Given the description of an element on the screen output the (x, y) to click on. 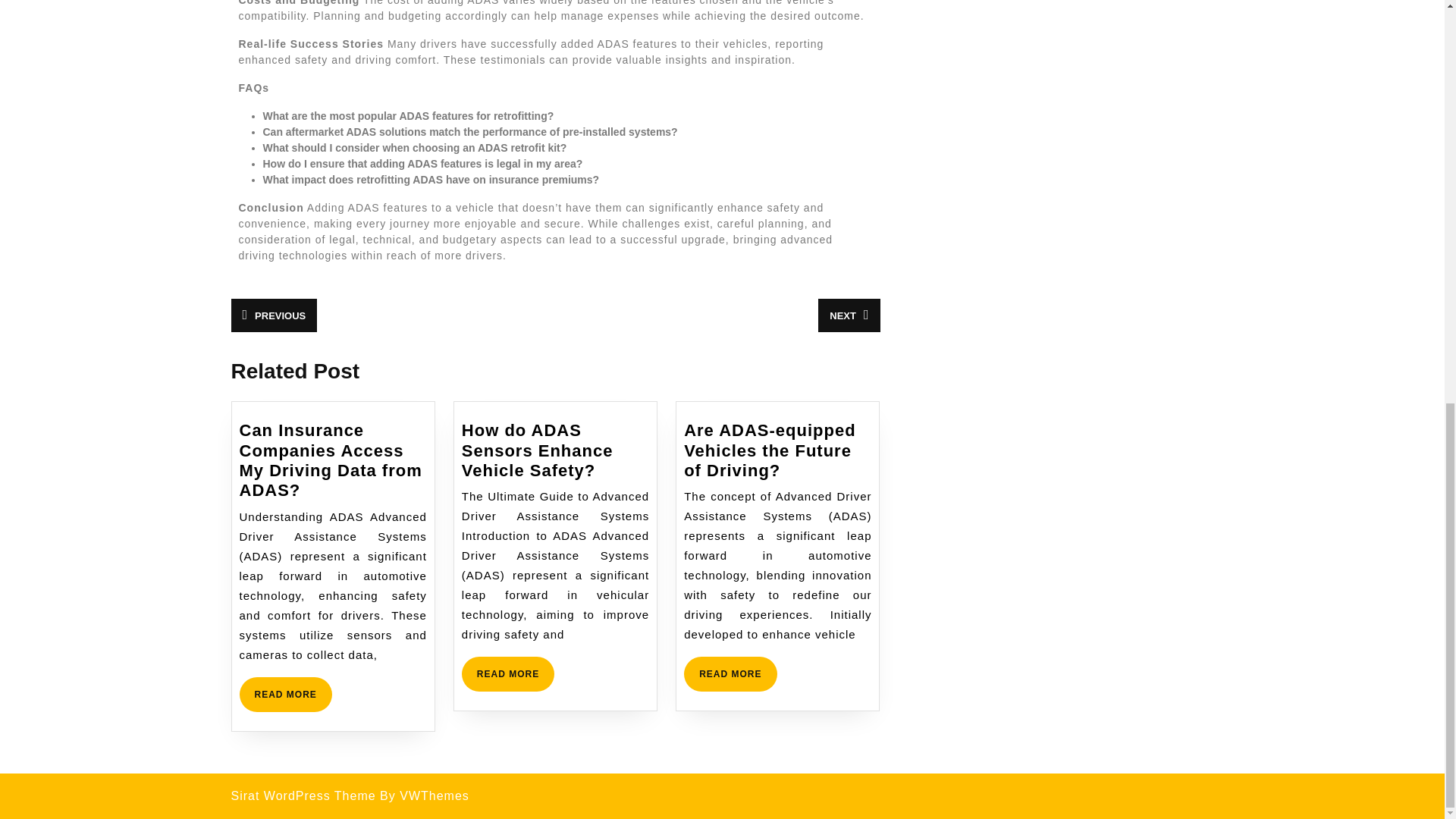
PREVIOUS (273, 315)
NEXT (848, 315)
Are ADAS-equipped Vehicles the Future of Driving? (770, 449)
How do ADAS Sensors Enhance Vehicle Safety? (536, 449)
READ MORE (507, 673)
READ MORE (730, 673)
Sirat WordPress Theme (302, 795)
READ MORE (285, 694)
Can Insurance Companies Access My Driving Data from ADAS? (331, 459)
